Given the description of an element on the screen output the (x, y) to click on. 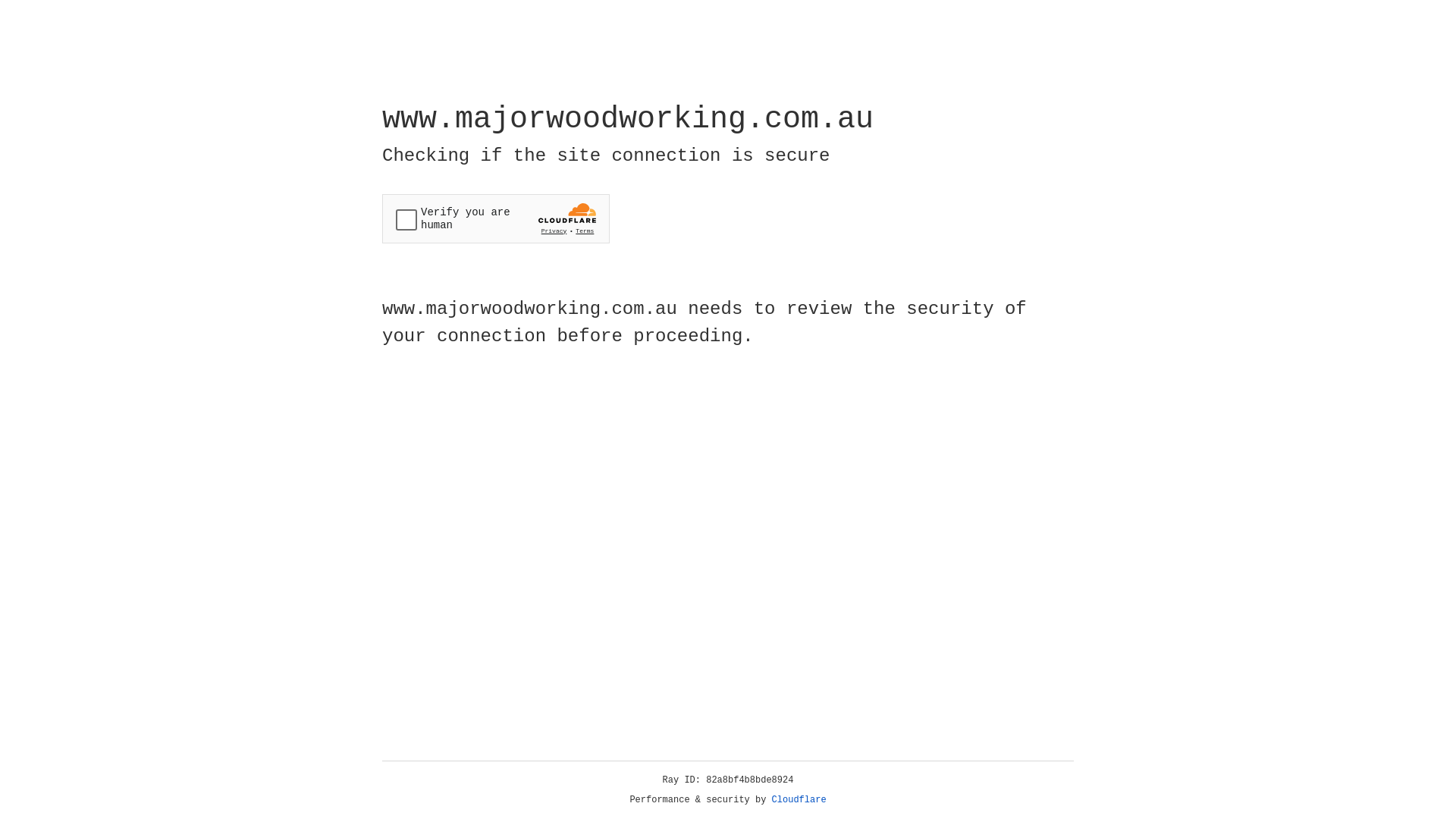
Widget containing a Cloudflare security challenge Element type: hover (495, 218)
Cloudflare Element type: text (798, 799)
